Given the description of an element on the screen output the (x, y) to click on. 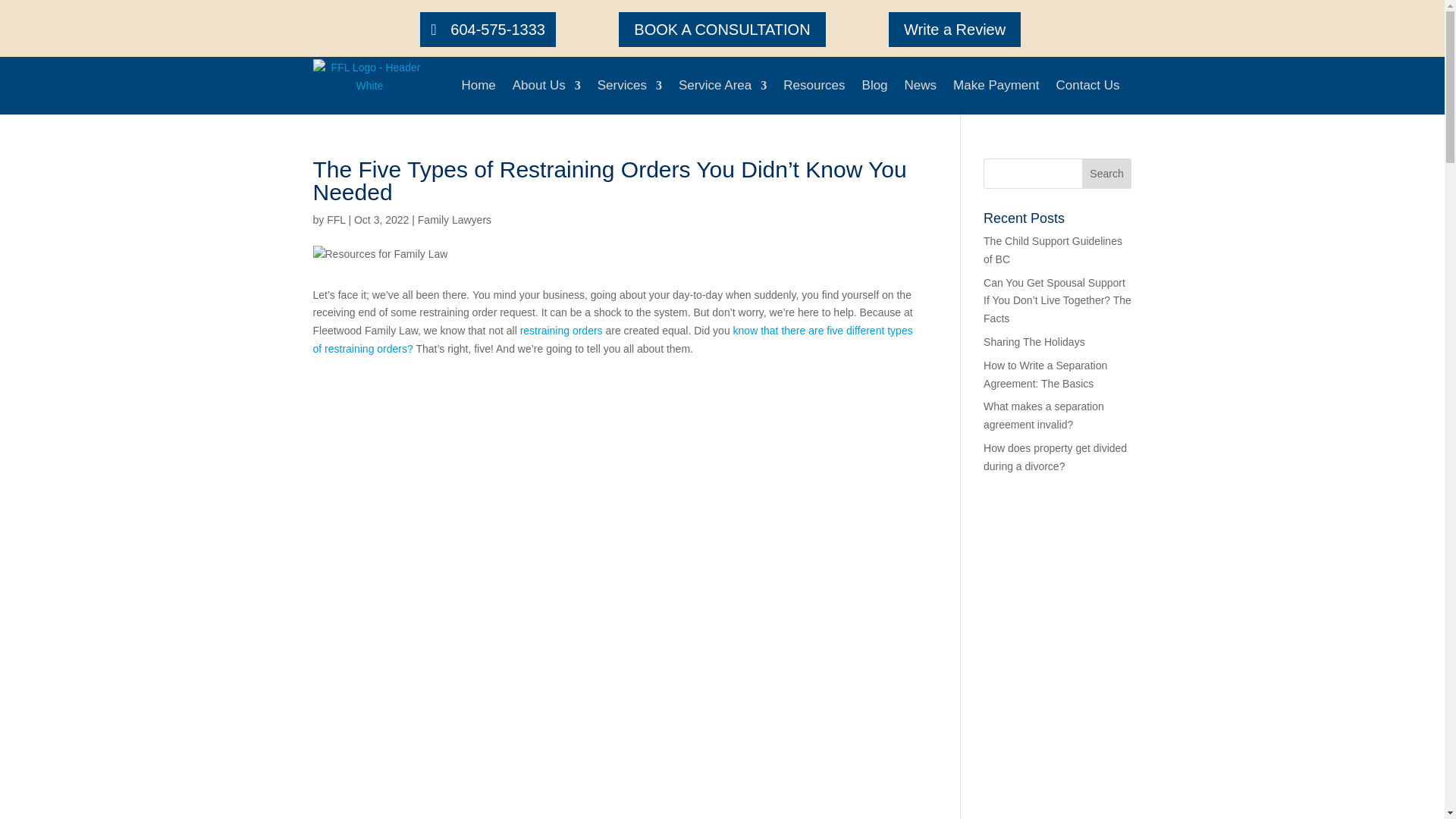
Service Area (722, 85)
Search (1106, 173)
Posts by FFL (335, 219)
Contact Us (1087, 85)
604-575-1333 (488, 29)
Services (629, 85)
FFL (335, 219)
Search (1106, 173)
